Given the description of an element on the screen output the (x, y) to click on. 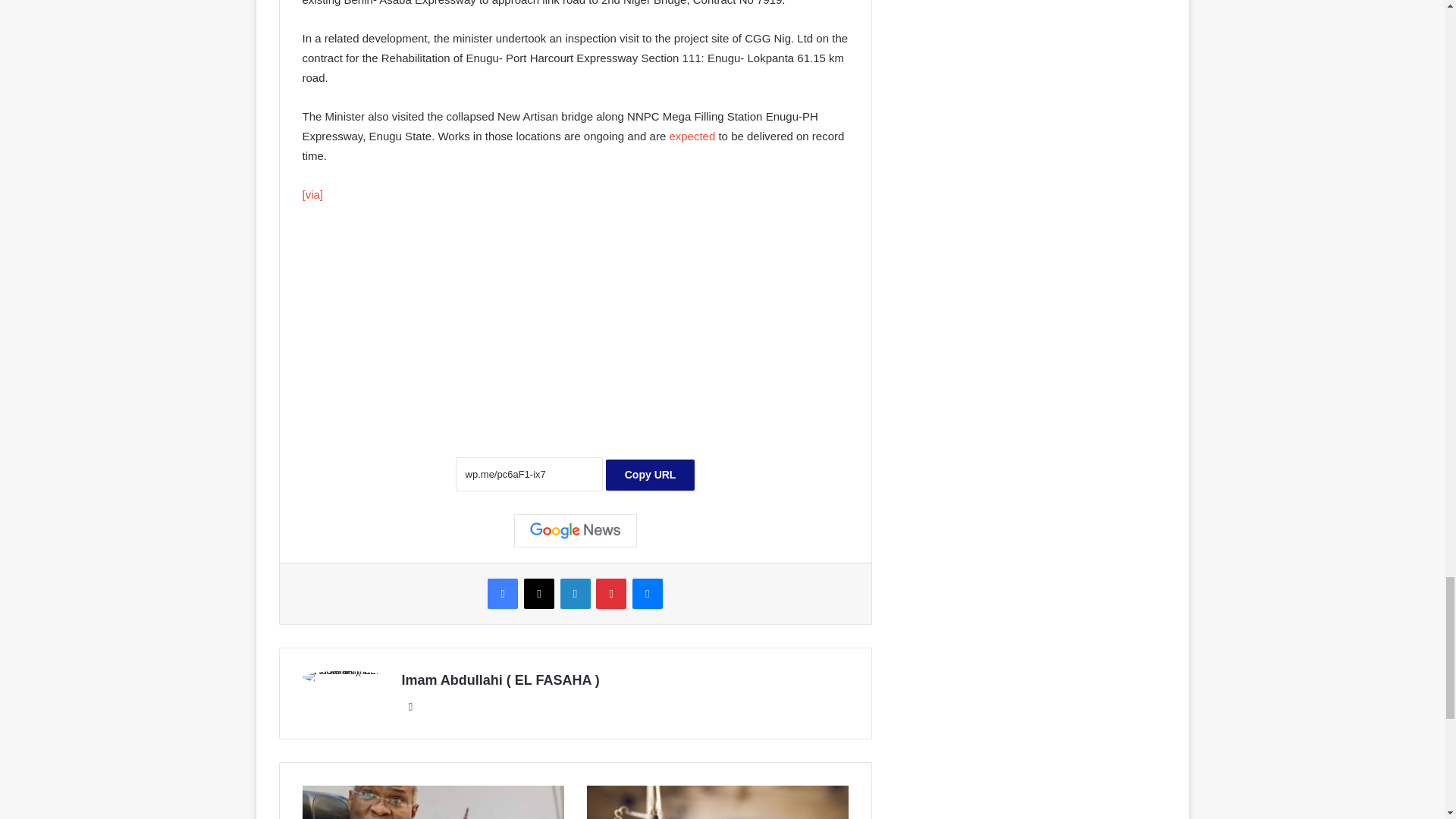
Pinterest (610, 593)
expected (689, 135)
LinkedIn (574, 593)
Pinterest (610, 593)
Messenger (646, 593)
Copy URL (650, 474)
Facebook (502, 593)
Facebook (502, 593)
Google News (575, 530)
X (539, 593)
LinkedIn (574, 593)
X (539, 593)
